Given the description of an element on the screen output the (x, y) to click on. 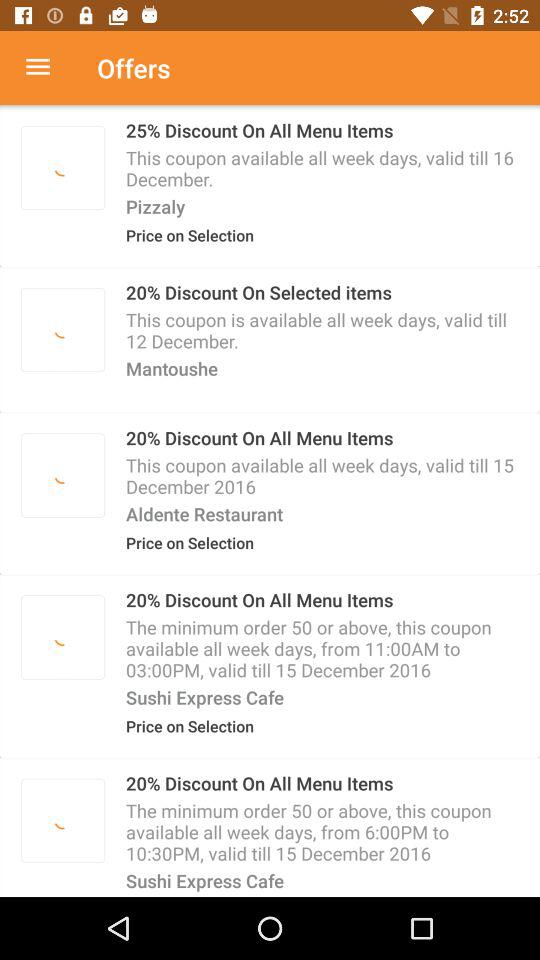
app menu (48, 67)
